Given the description of an element on the screen output the (x, y) to click on. 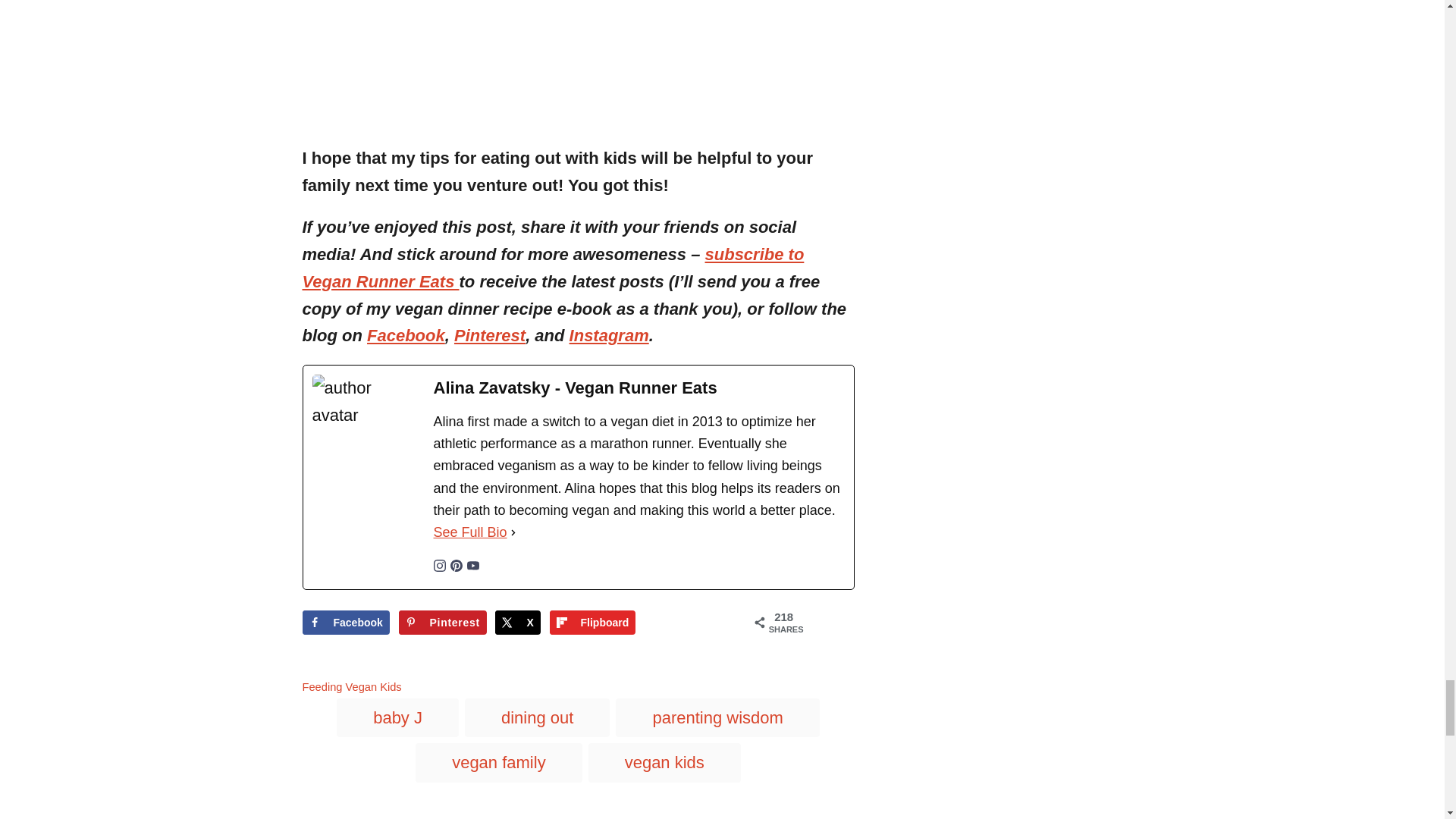
Share on Facebook (344, 622)
Save to Pinterest (442, 622)
Share on Flipboard (593, 622)
Share on X (517, 622)
